Given the description of an element on the screen output the (x, y) to click on. 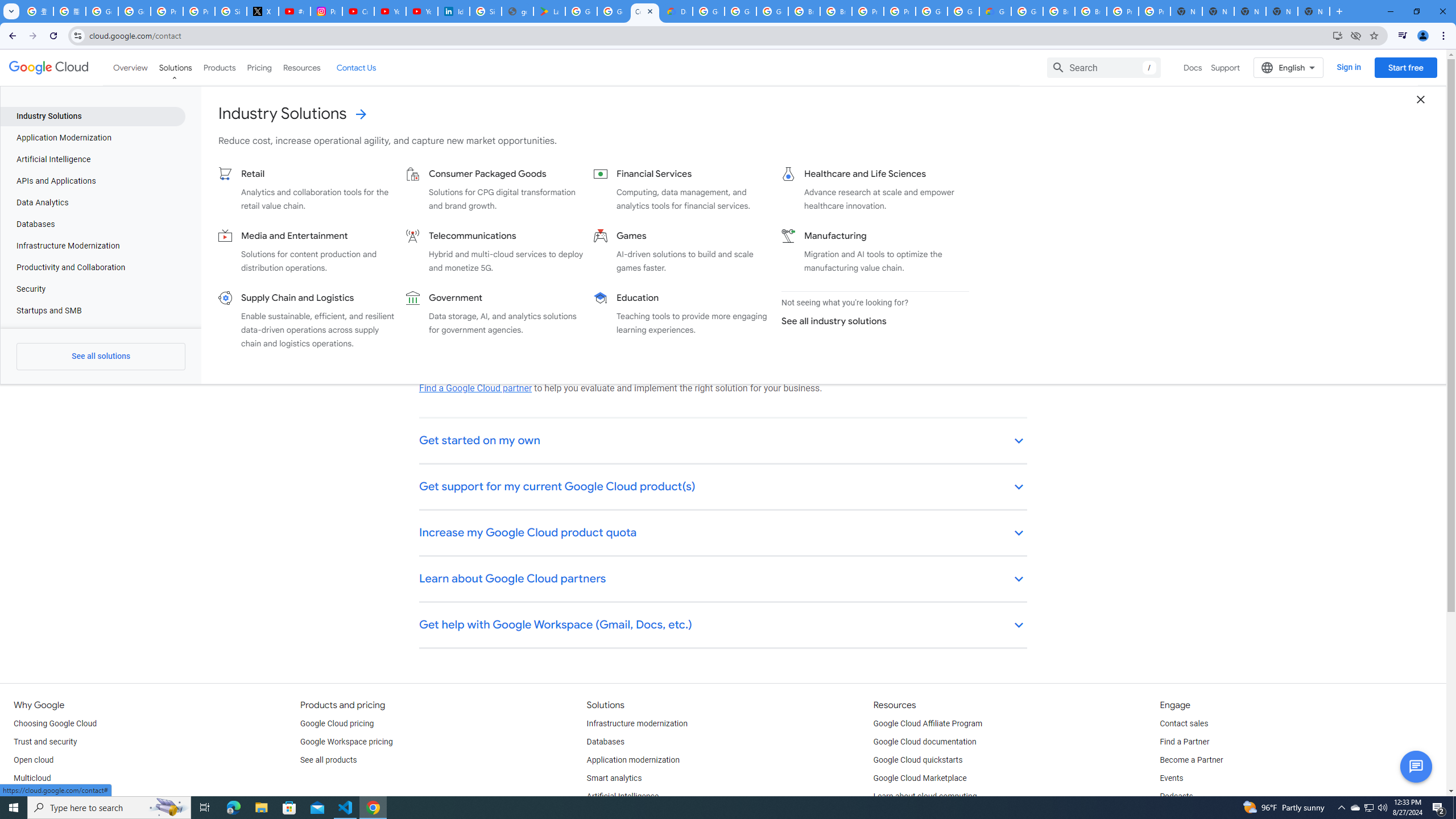
Contact Us (355, 67)
Startups and SMB (92, 311)
Get started on my own keyboard_arrow_down (723, 441)
Productivity and Collaboration (92, 267)
Learn about cloud computing (924, 796)
Browse Chrome as a guest - Computer - Google Chrome Help (804, 11)
Docs (1192, 67)
Podcasts (1175, 796)
Infrastructure Modernization (92, 245)
Browse Chrome as a guest - Computer - Google Chrome Help (1059, 11)
